Given the description of an element on the screen output the (x, y) to click on. 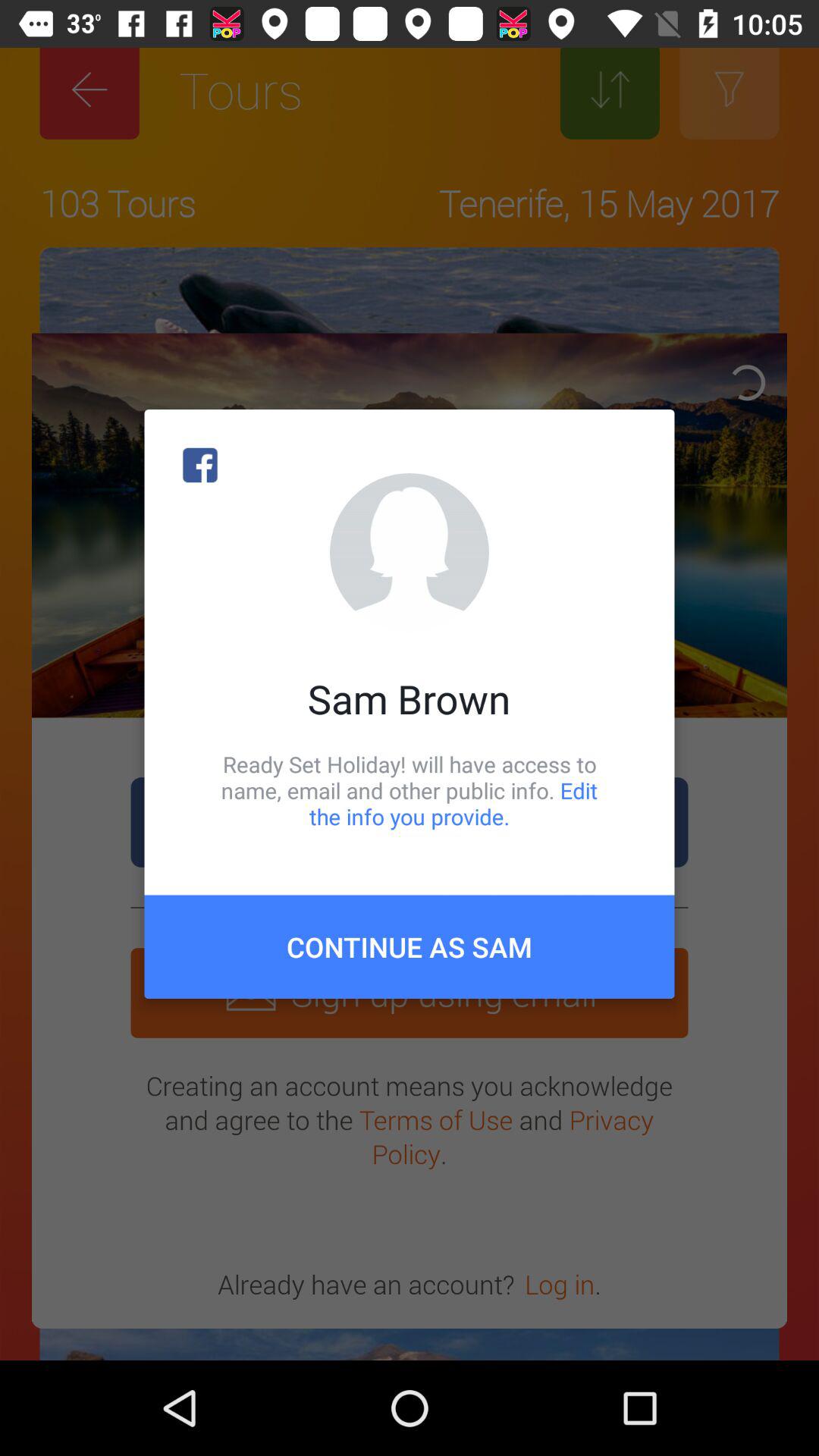
scroll to continue as sam (409, 946)
